Given the description of an element on the screen output the (x, y) to click on. 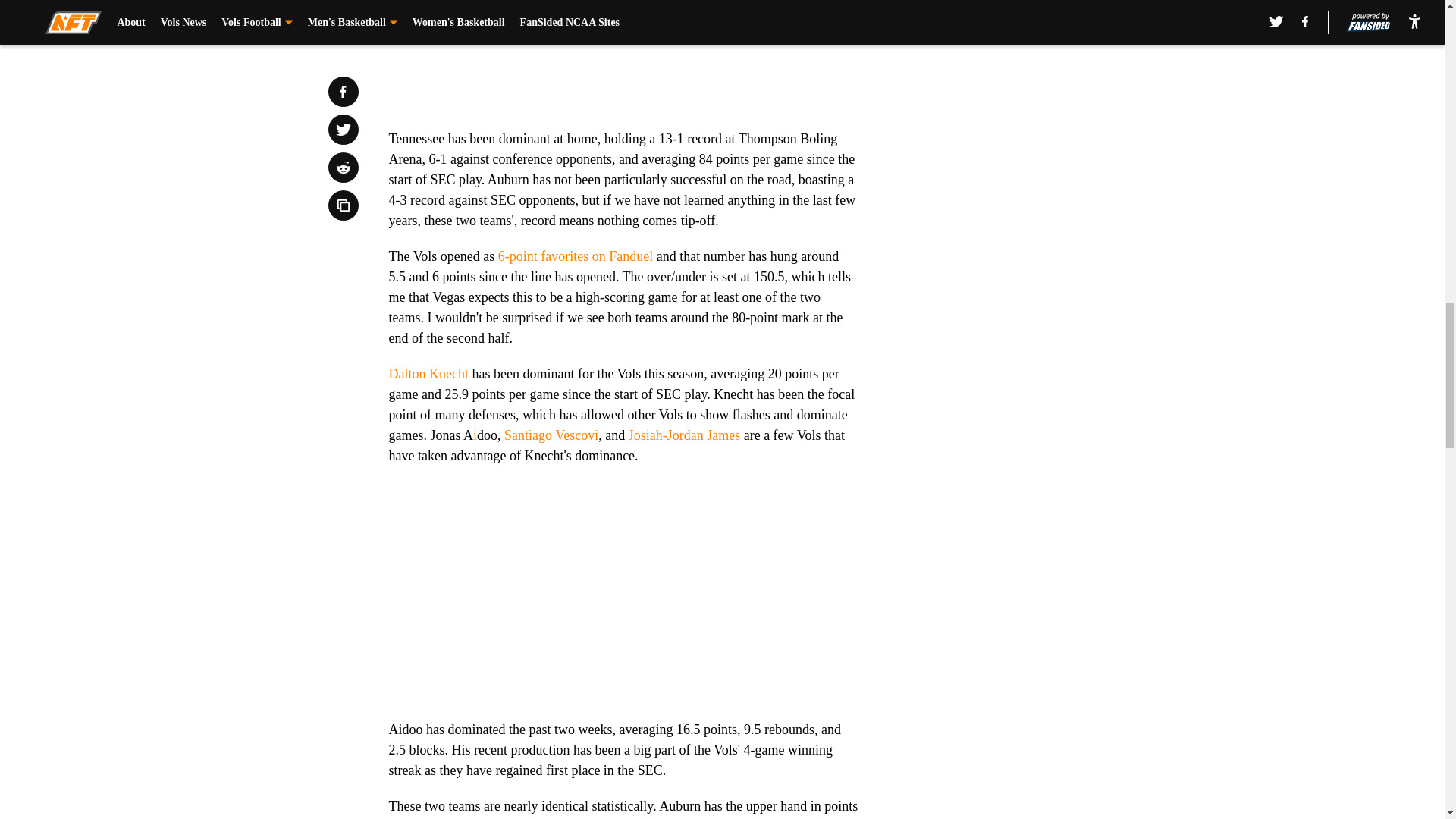
Josiah-Jordan James (683, 435)
Dalton Knecht (427, 373)
Santiago Vescovi (550, 435)
6-point favorites on Fanduel (574, 255)
